Given the description of an element on the screen output the (x, y) to click on. 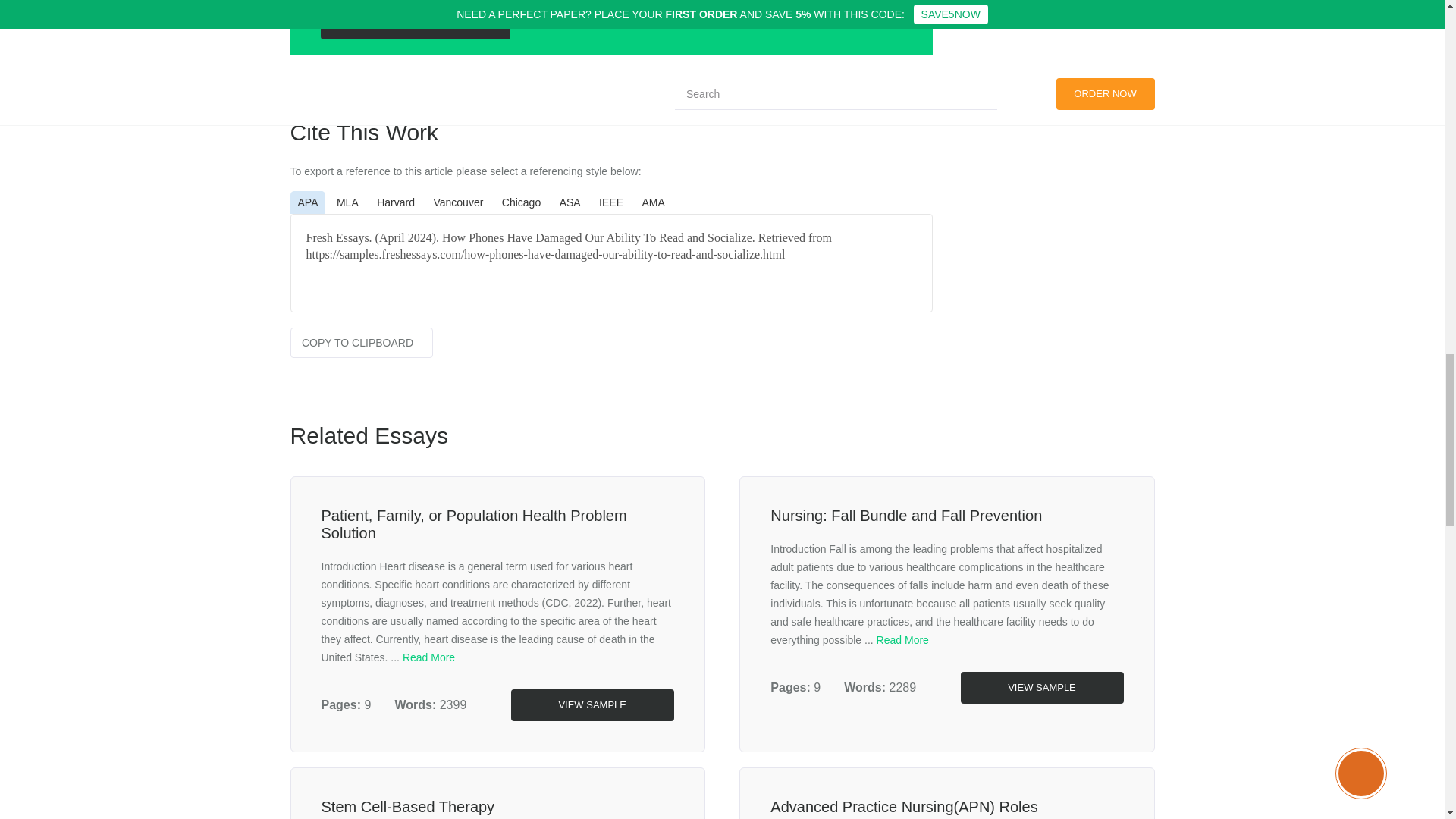
VIEW SAMPLE (1040, 687)
Read More (902, 639)
Patient, Family, or Population Health Problem Solution (474, 523)
Read More (428, 657)
Stem Cell-Based Therapy (408, 806)
PLACE AN ORDER (414, 23)
Nursing: Fall Bundle and Fall Prevention (906, 515)
VIEW SAMPLE (592, 705)
